Given the description of an element on the screen output the (x, y) to click on. 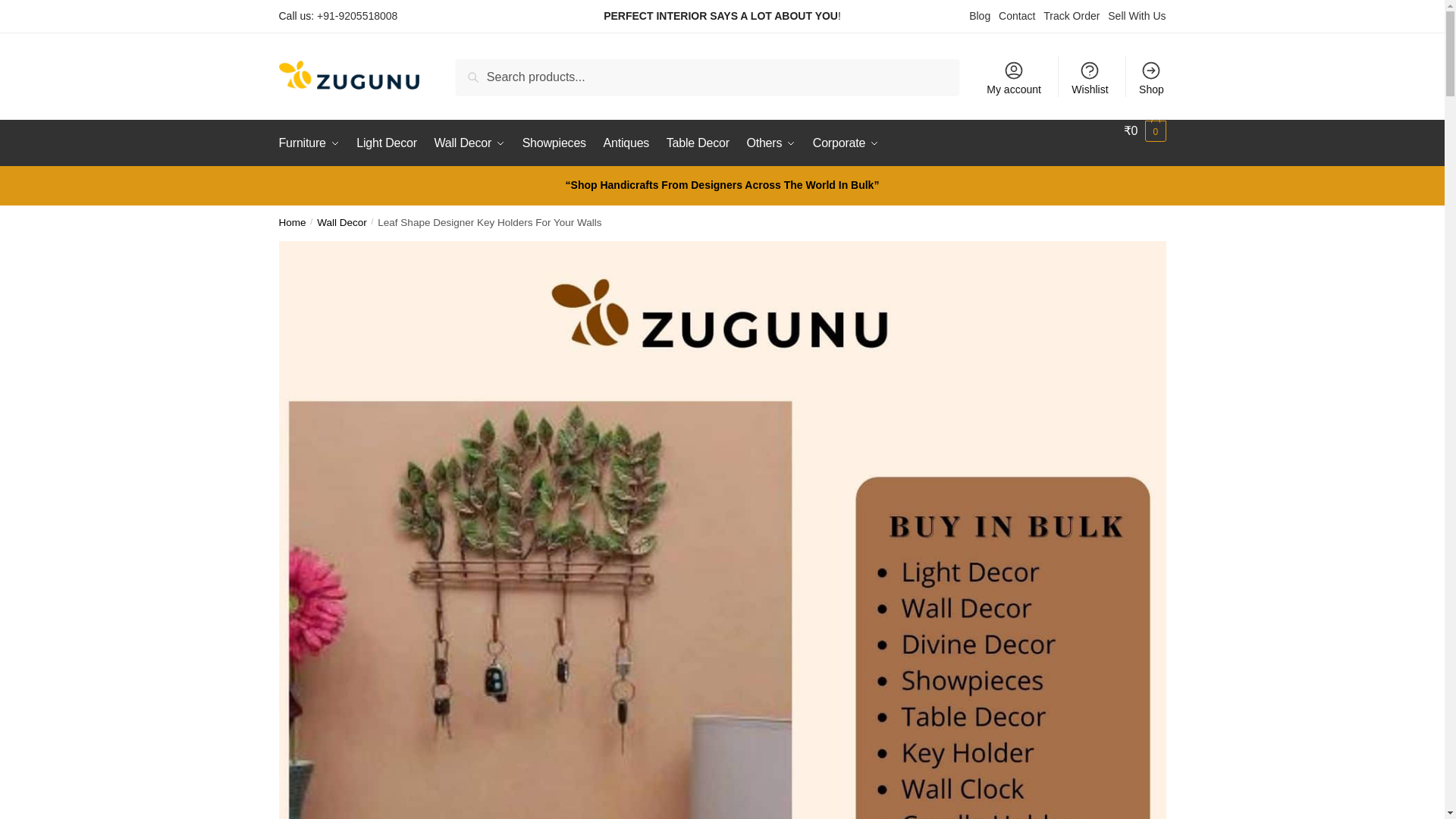
Wall Decor (470, 143)
Shop (1151, 76)
Contact (1016, 15)
Furniture (312, 143)
Showpieces (553, 143)
View your shopping cart (1145, 130)
Blog (979, 15)
Search (476, 69)
Sell With Us (1137, 15)
My account (1012, 76)
Track Order (1071, 15)
Antiques (626, 143)
Wishlist (1090, 76)
Light Decor (386, 143)
